Given the description of an element on the screen output the (x, y) to click on. 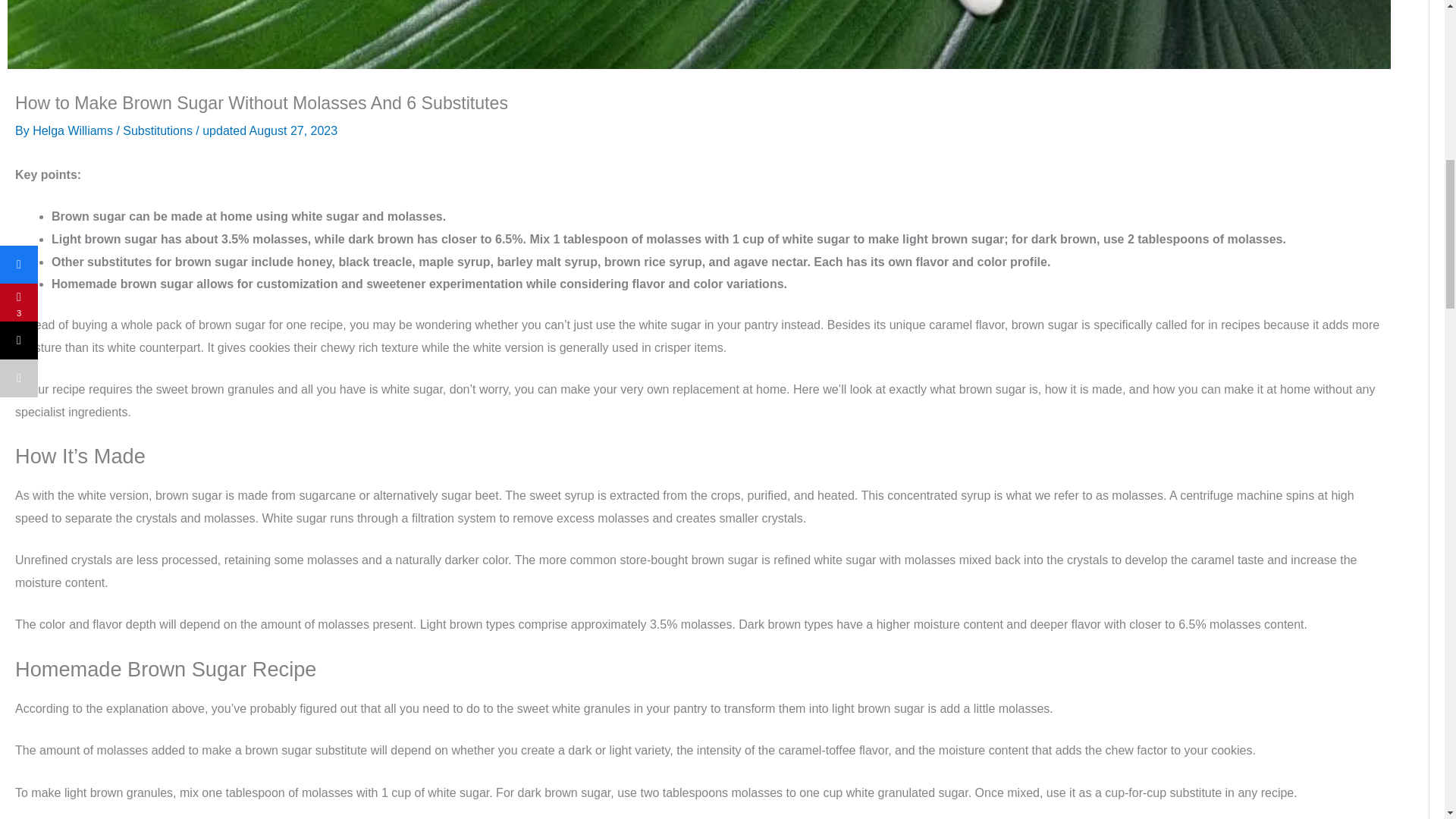
Helga Williams (74, 130)
View all posts by Helga Williams (74, 130)
Substitutions (157, 130)
